Given the description of an element on the screen output the (x, y) to click on. 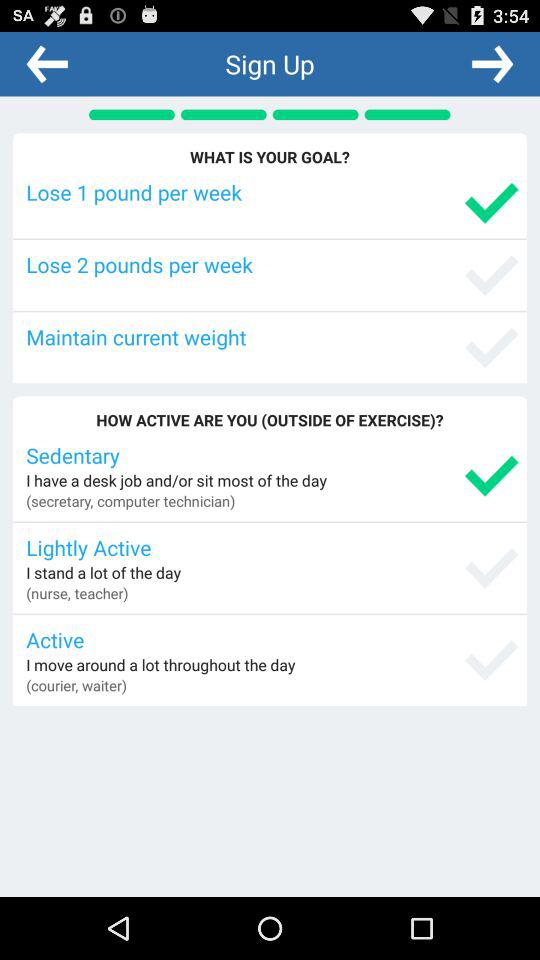
click the app to the right of the sign up (492, 63)
